Given the description of an element on the screen output the (x, y) to click on. 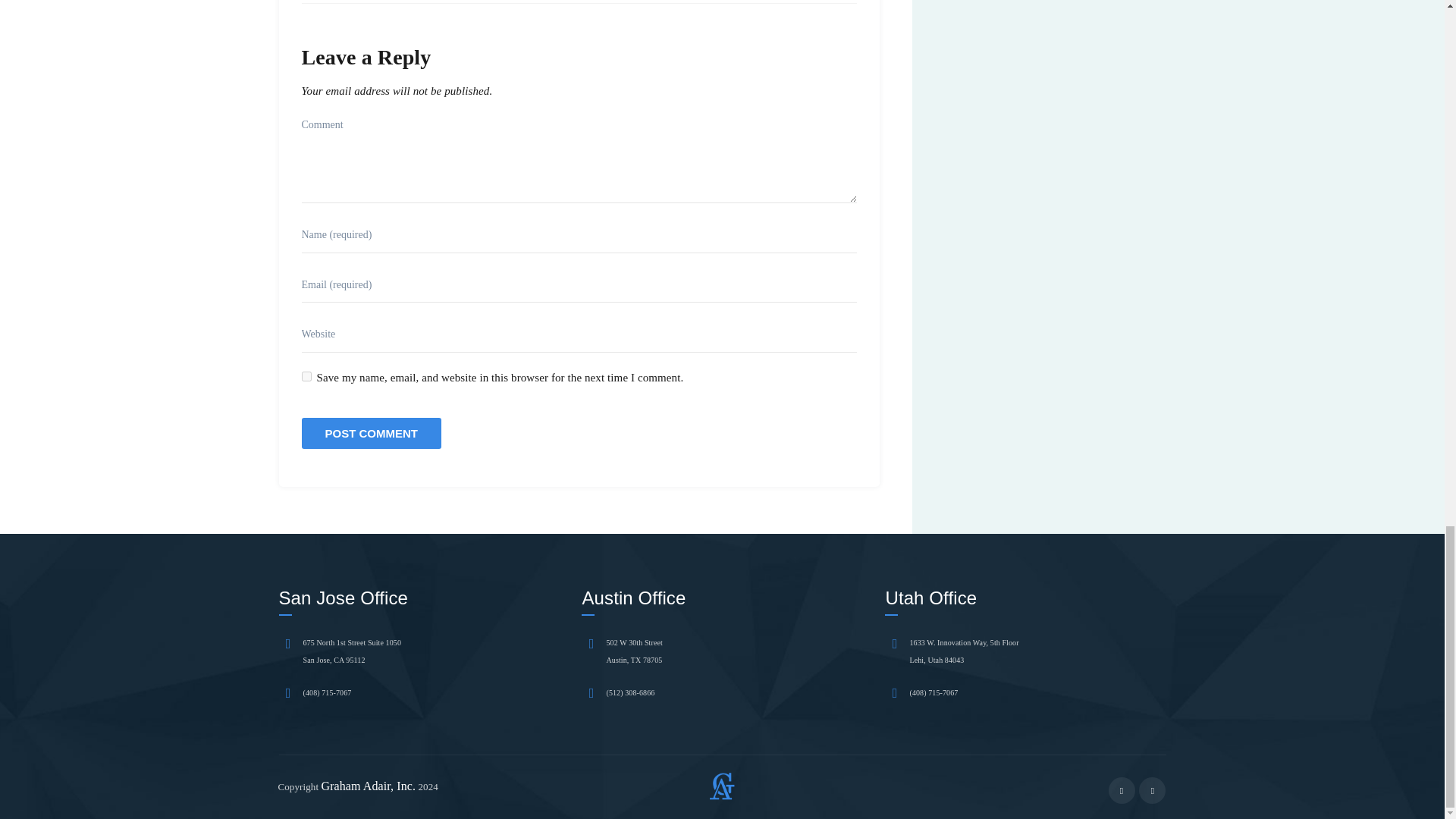
Post Comment (371, 432)
yes (306, 376)
Post Comment (371, 432)
